Given the description of an element on the screen output the (x, y) to click on. 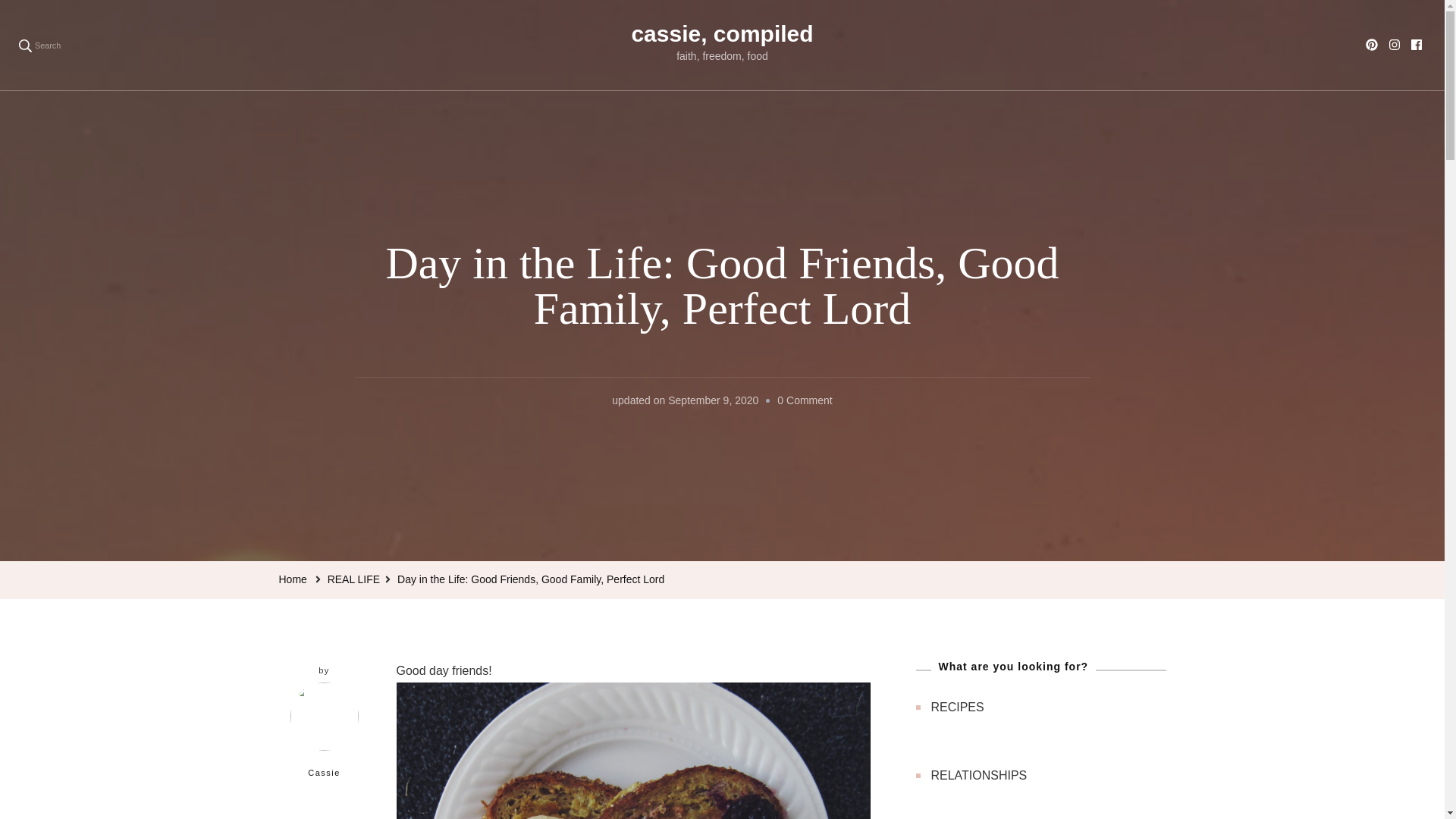
Cassie (324, 737)
Search (212, 45)
Home (293, 579)
REAL LIFE (353, 579)
September 9, 2020 (713, 400)
cassie, compiled (721, 33)
Day in the Life: Good Friends, Good Family, Perfect Lord (530, 579)
Search (39, 44)
